Given the description of an element on the screen output the (x, y) to click on. 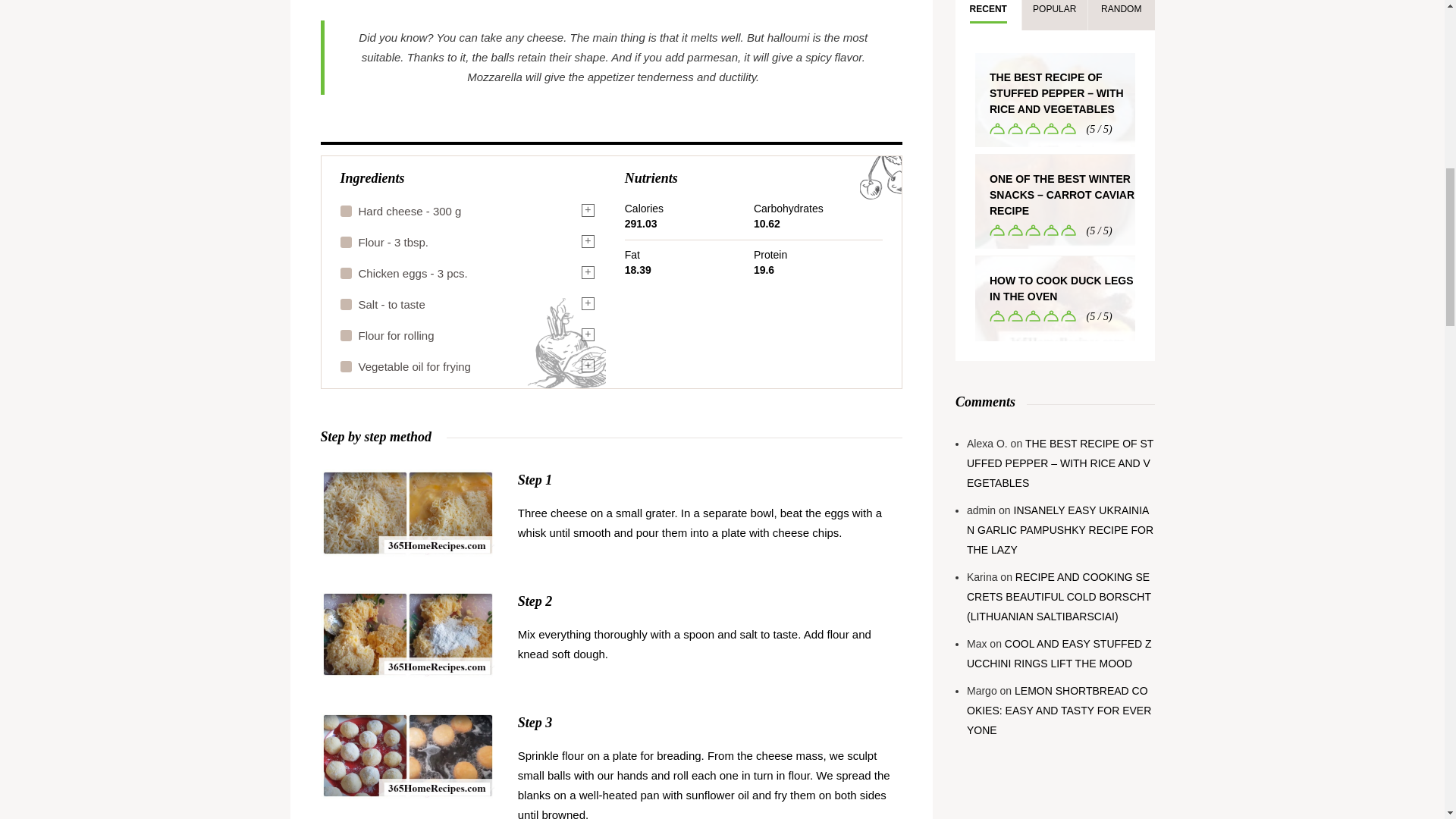
on (344, 241)
on (344, 272)
on (344, 210)
on (344, 366)
on (344, 303)
on (344, 335)
